Given the description of an element on the screen output the (x, y) to click on. 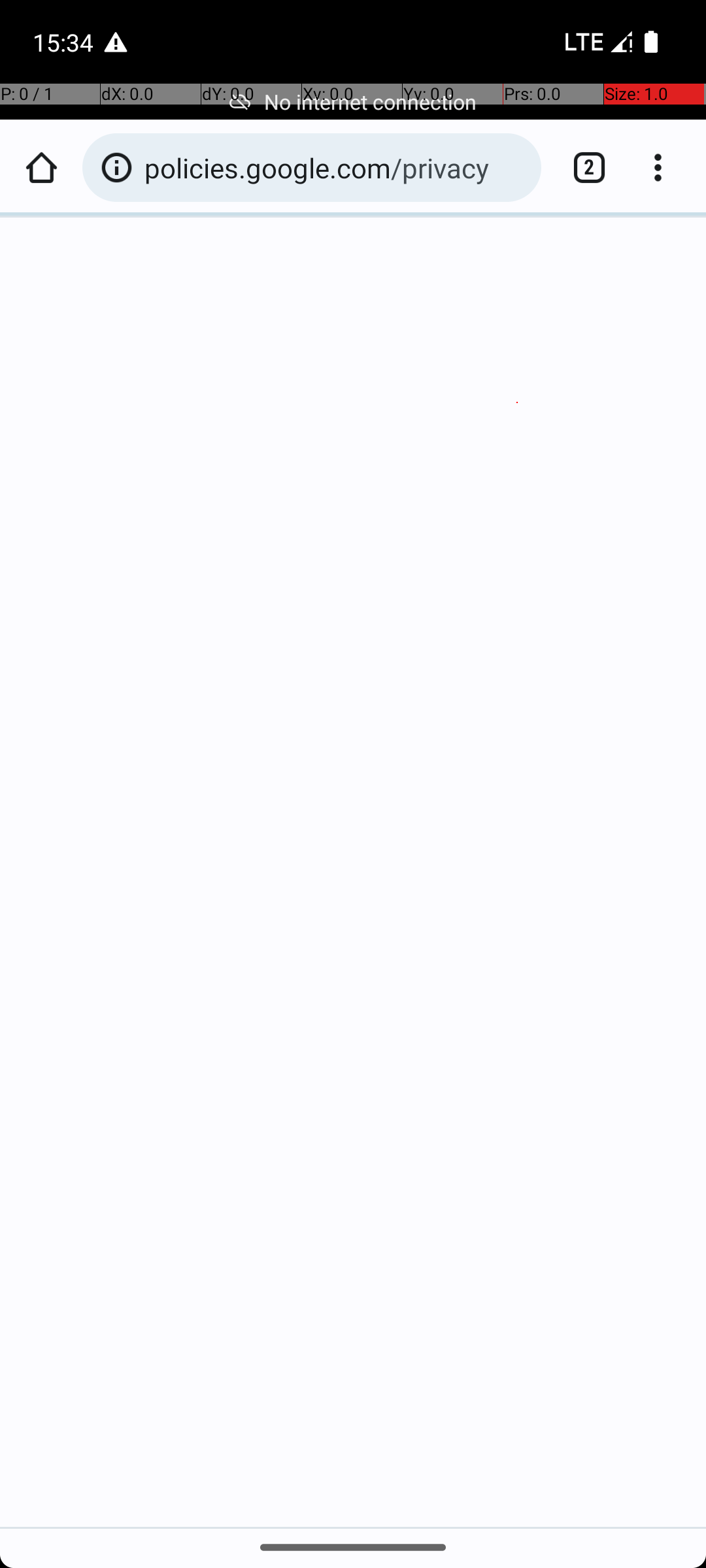
Web View Element type: android.widget.FrameLayout (353, 804)
No internet connection Element type: android.widget.TextView (352, 101)
policies.google.com/privacy Element type: android.widget.EditText (335, 167)
Switch or close tabs Element type: android.widget.ImageButton (582, 167)
